Given the description of an element on the screen output the (x, y) to click on. 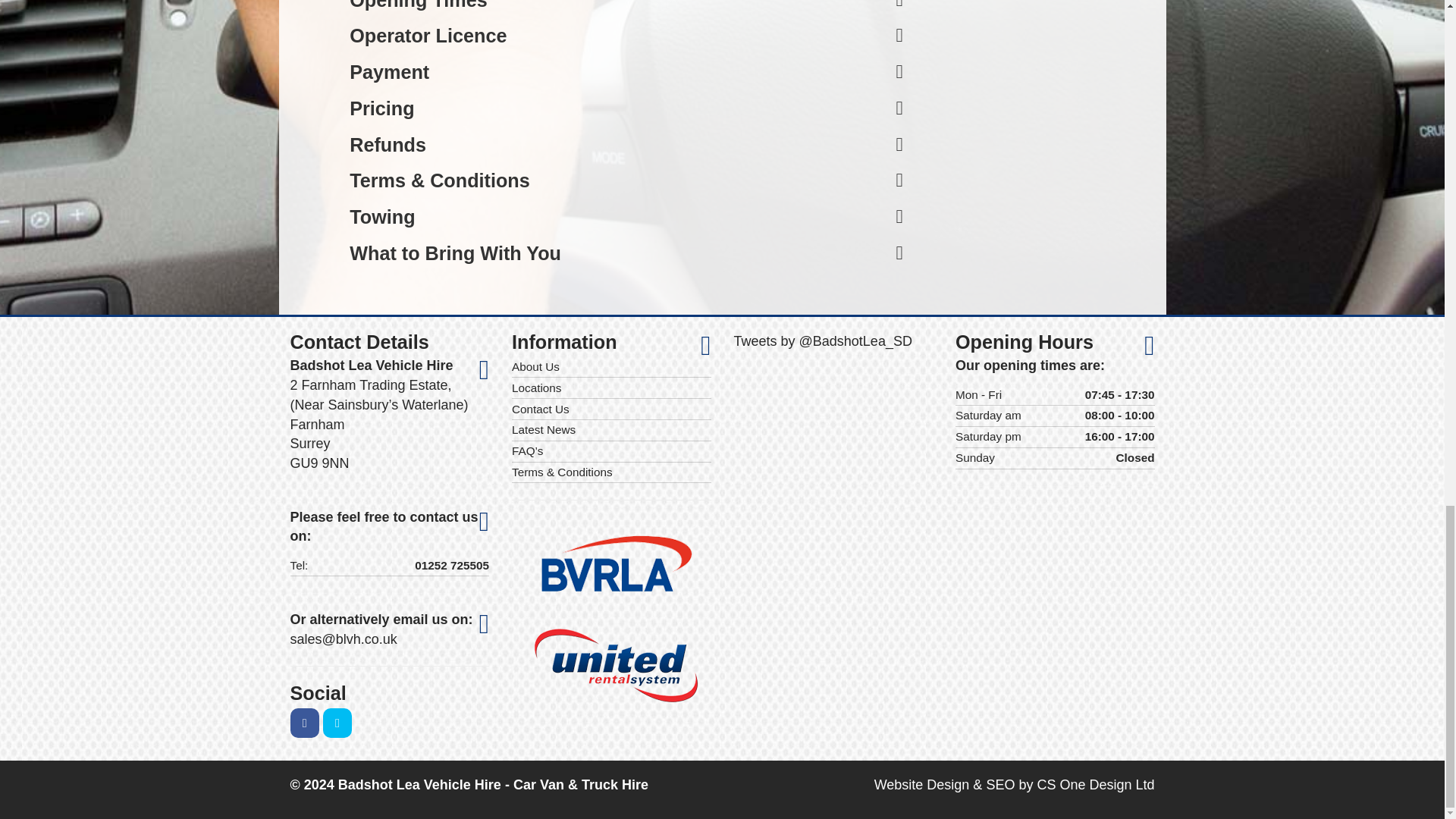
CS One Design Ltd (999, 784)
CS One Design Ltd (1095, 784)
CS One Design Ltd (922, 784)
